Given the description of an element on the screen output the (x, y) to click on. 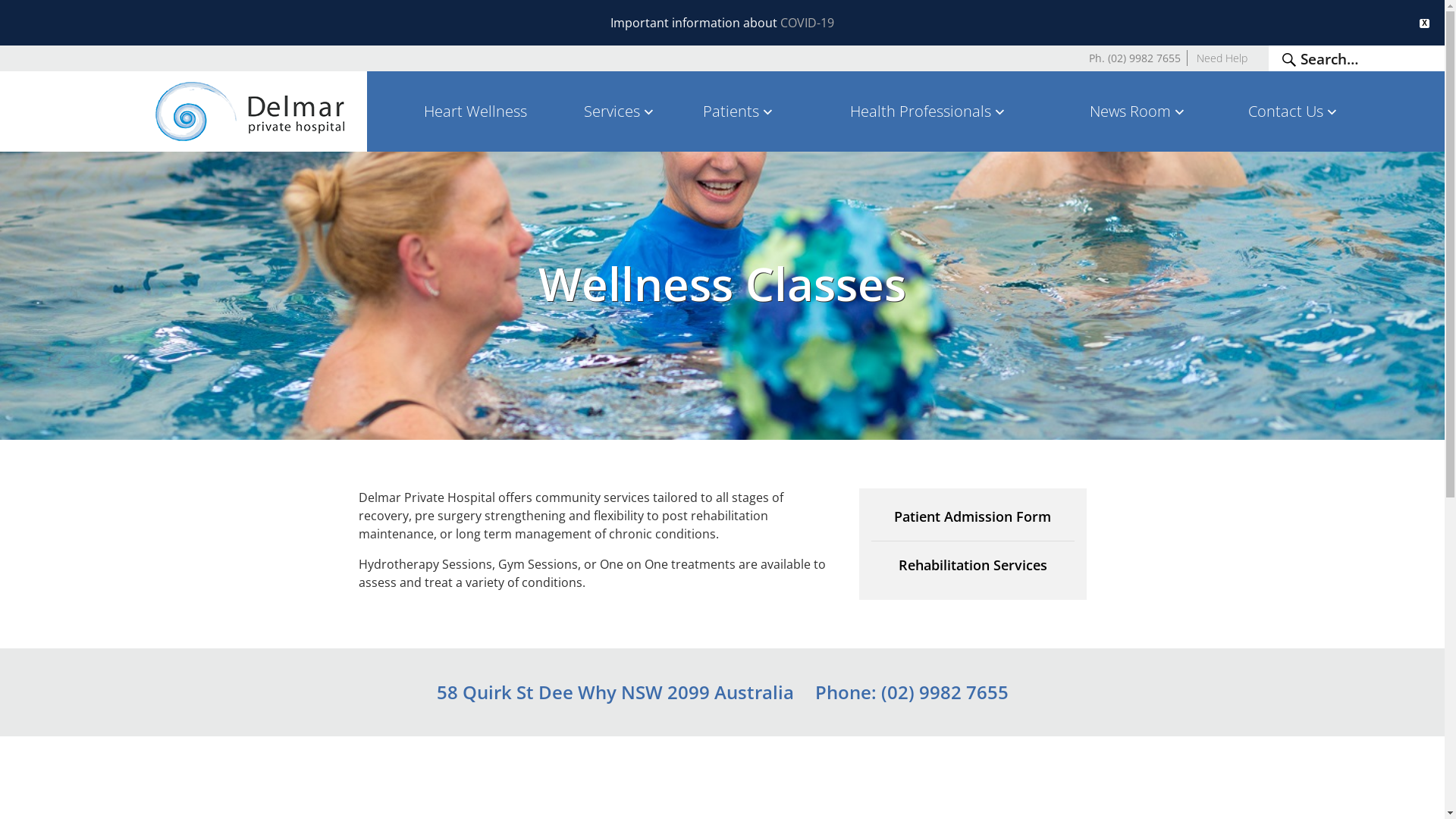
Patient Admission Form Element type: text (971, 523)
Rehabilitation Services Element type: text (971, 565)
Ph. (02) 9982 7655 Element type: text (1134, 57)
News Room Element type: text (1137, 111)
COVID-19 Element type: text (807, 22)
Health Professionals Element type: text (928, 111)
Need Help Element type: text (1221, 57)
Phone: (02) 9982 7655 Element type: text (910, 691)
Patients Element type: text (739, 111)
Heart Wellness Element type: text (475, 111)
Contact Us Element type: text (1293, 111)
Services Element type: text (620, 111)
